Given the description of an element on the screen output the (x, y) to click on. 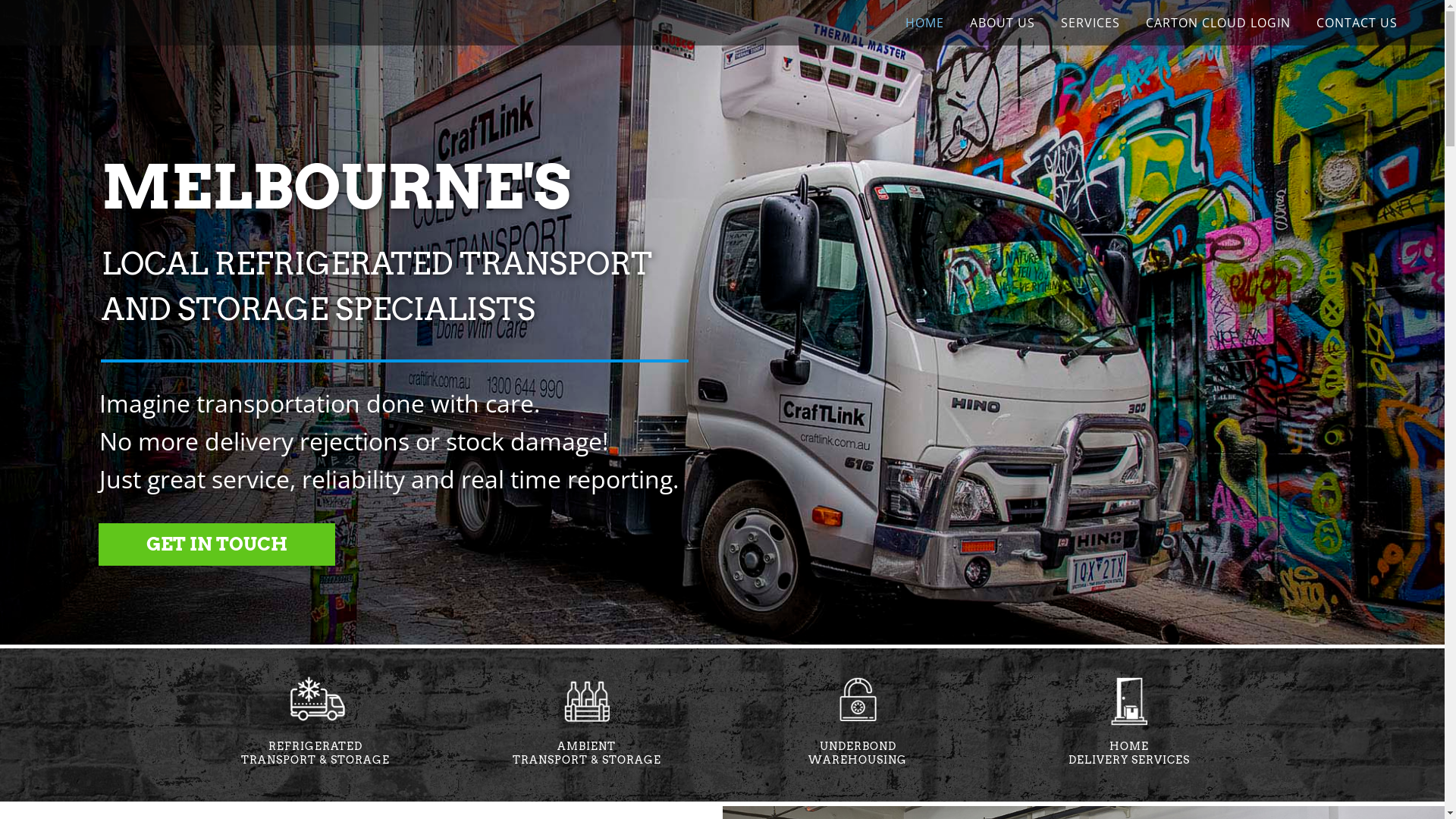
HOME Element type: text (924, 22)
home delivery icon Element type: hover (1129, 701)
refrigerated transport icon Element type: hover (315, 701)
SERVICES Element type: text (1090, 22)
ambient delivery icon Element type: hover (586, 701)
GET IN TOUCH Element type: text (216, 544)
CONTACT US Element type: text (1356, 22)
ABOUT US Element type: text (1002, 22)
CARTON CLOUD LOGIN Element type: text (1217, 22)
bonded storage icon Element type: hover (857, 701)
